Given the description of an element on the screen output the (x, y) to click on. 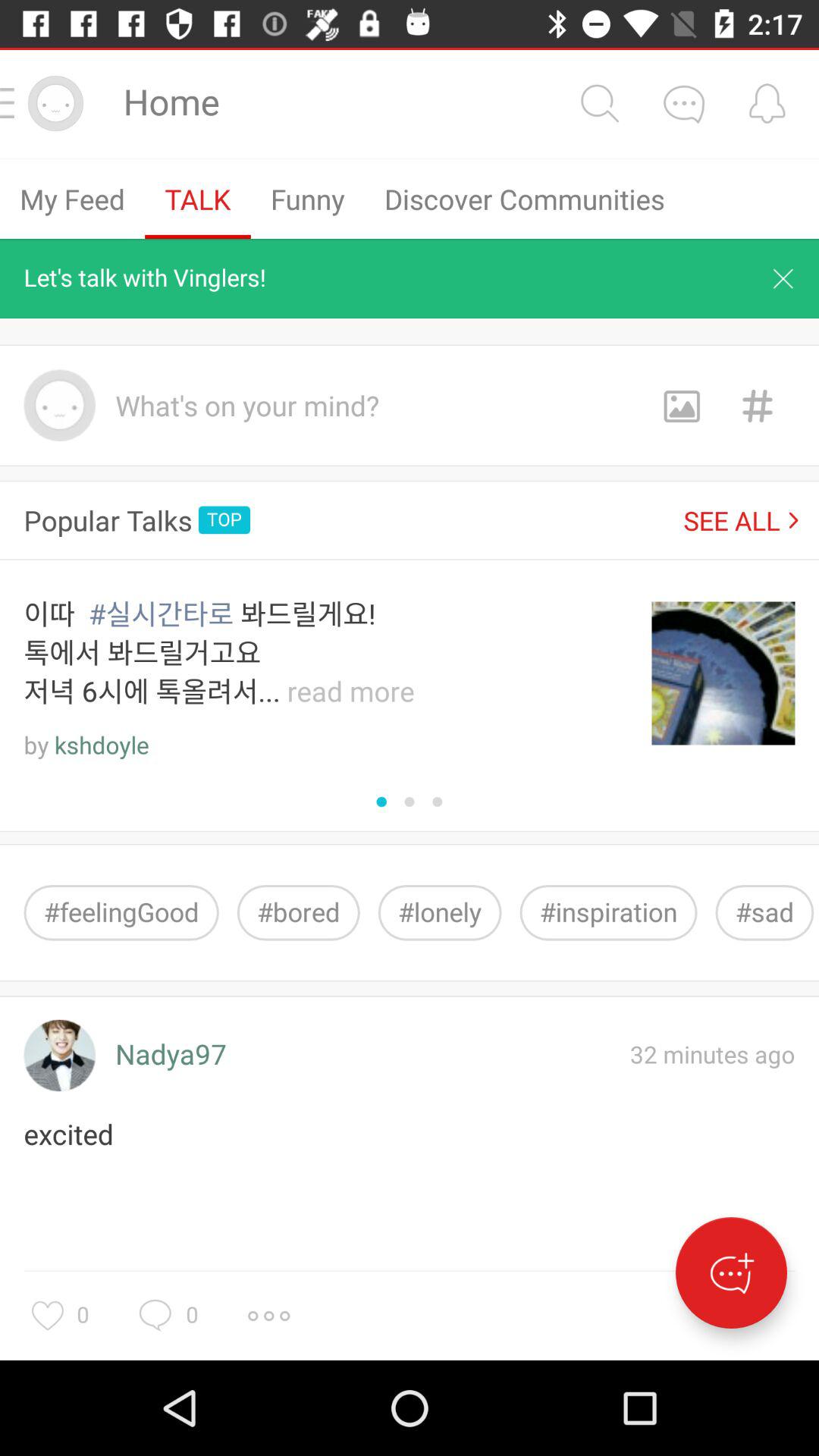
look at profile photo (59, 1055)
